Given the description of an element on the screen output the (x, y) to click on. 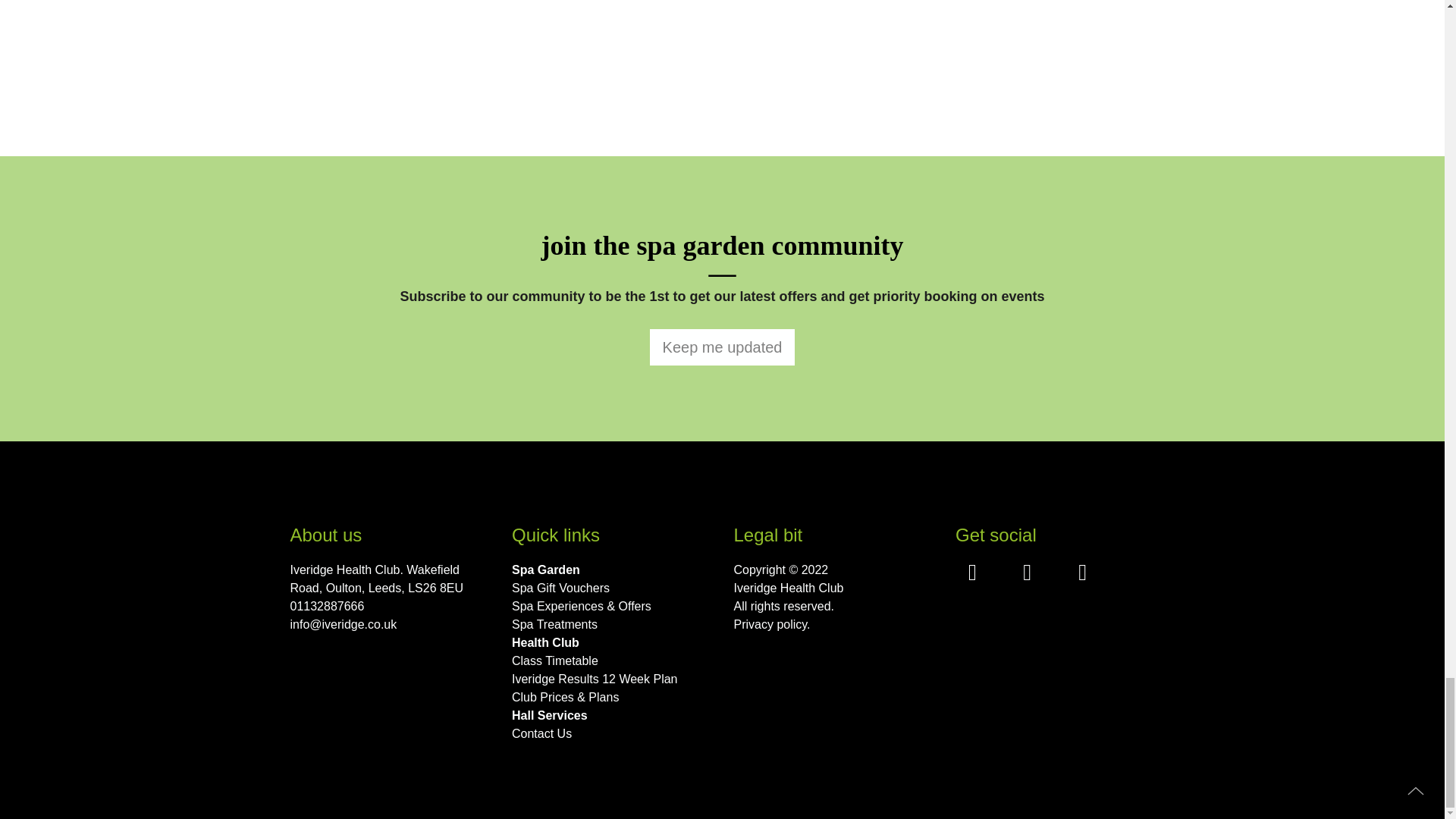
Spa Treatments (611, 624)
Iveridge Health Club (833, 588)
Spa Gift Vouchers (611, 588)
Keep me updated (721, 347)
All rights reserved. (833, 606)
Iveridge Results 12 Week Plan (611, 679)
01132887666 (389, 606)
Class Timetable (611, 660)
Privacy policy. (833, 624)
Health Club (611, 642)
